Given the description of an element on the screen output the (x, y) to click on. 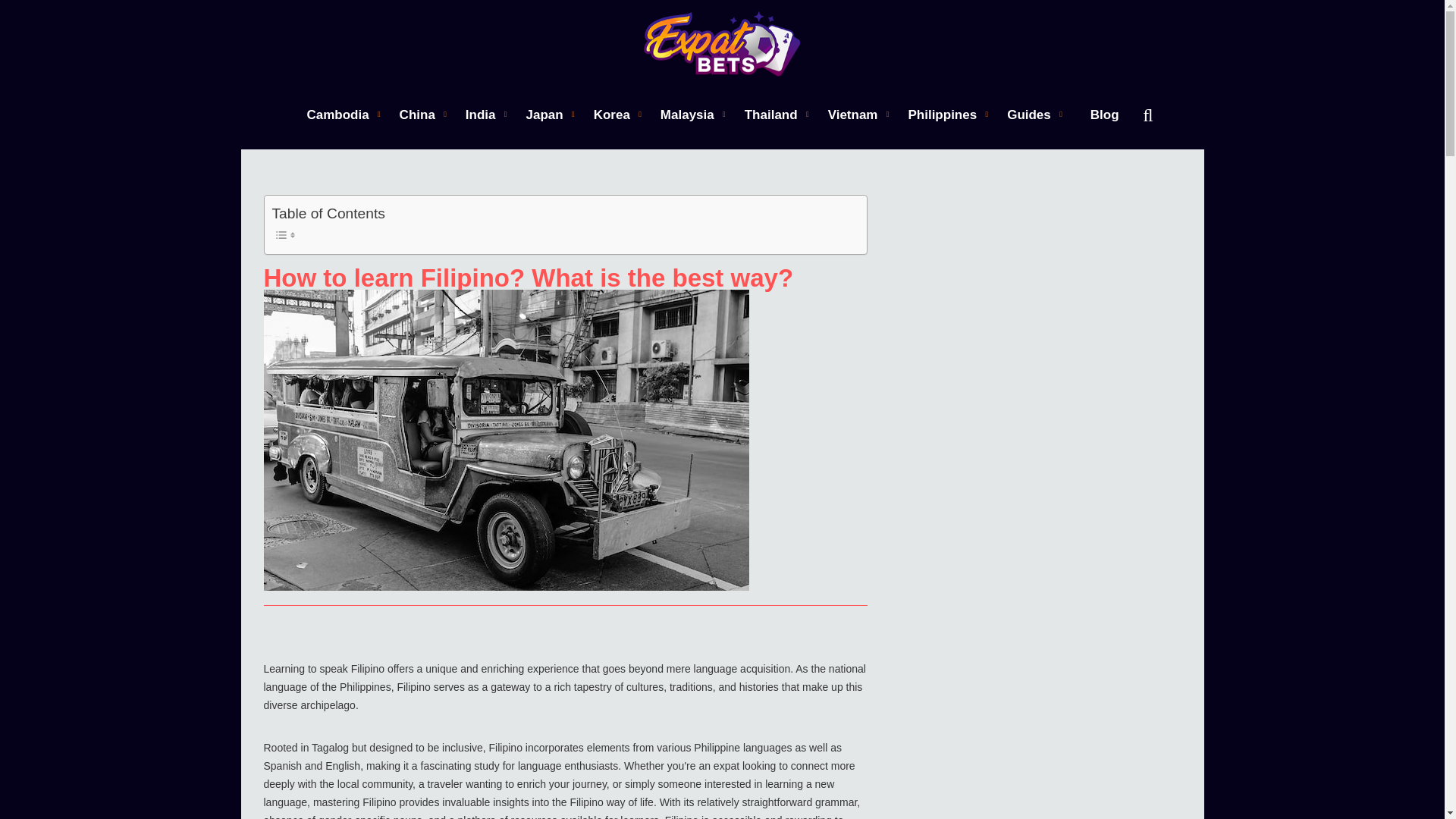
Cambodia (336, 114)
Expat Bets (721, 43)
